Given the description of an element on the screen output the (x, y) to click on. 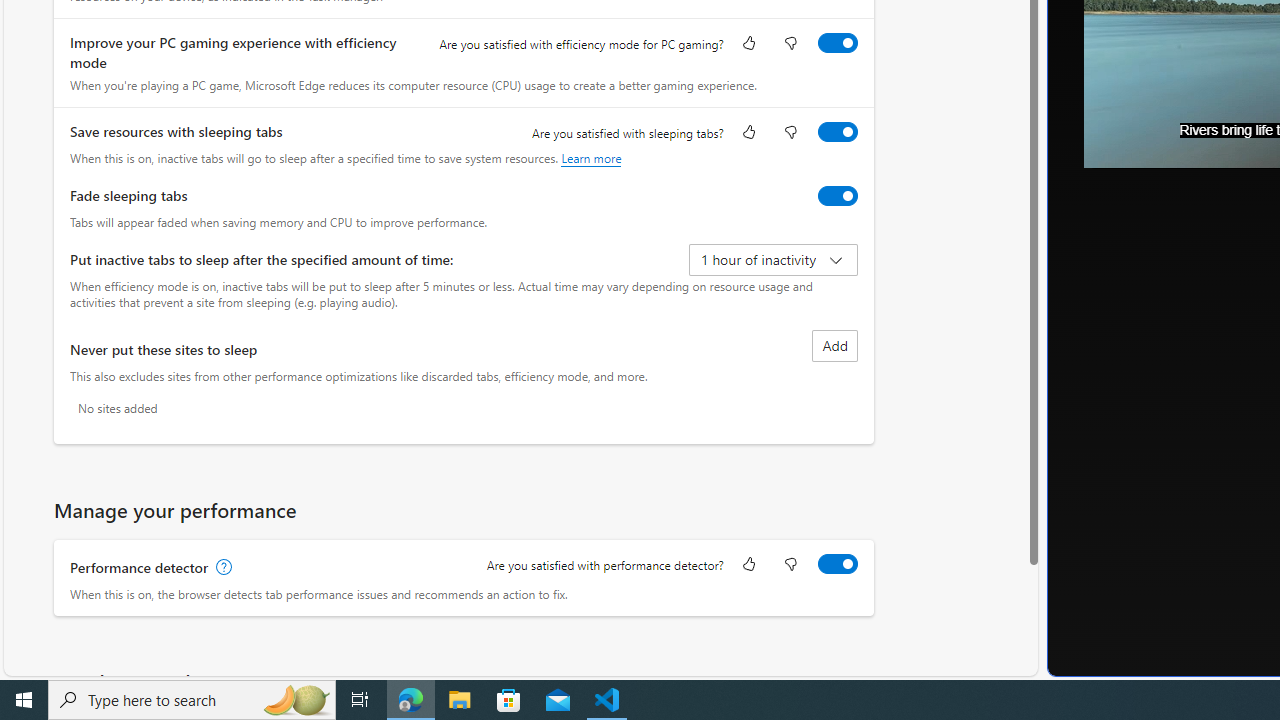
Seek Forward (1193, 146)
Performance detector, learn more (221, 567)
Improve your PC gaming experience with efficiency mode (837, 43)
Fade sleeping tabs (837, 195)
Save resources with sleeping tabs (837, 131)
Pause (1114, 146)
Learn more (591, 158)
Performance detector (837, 563)
Add site to never put these sites to sleep list (834, 345)
Seek Back (1153, 146)
Like (748, 565)
